Given the description of an element on the screen output the (x, y) to click on. 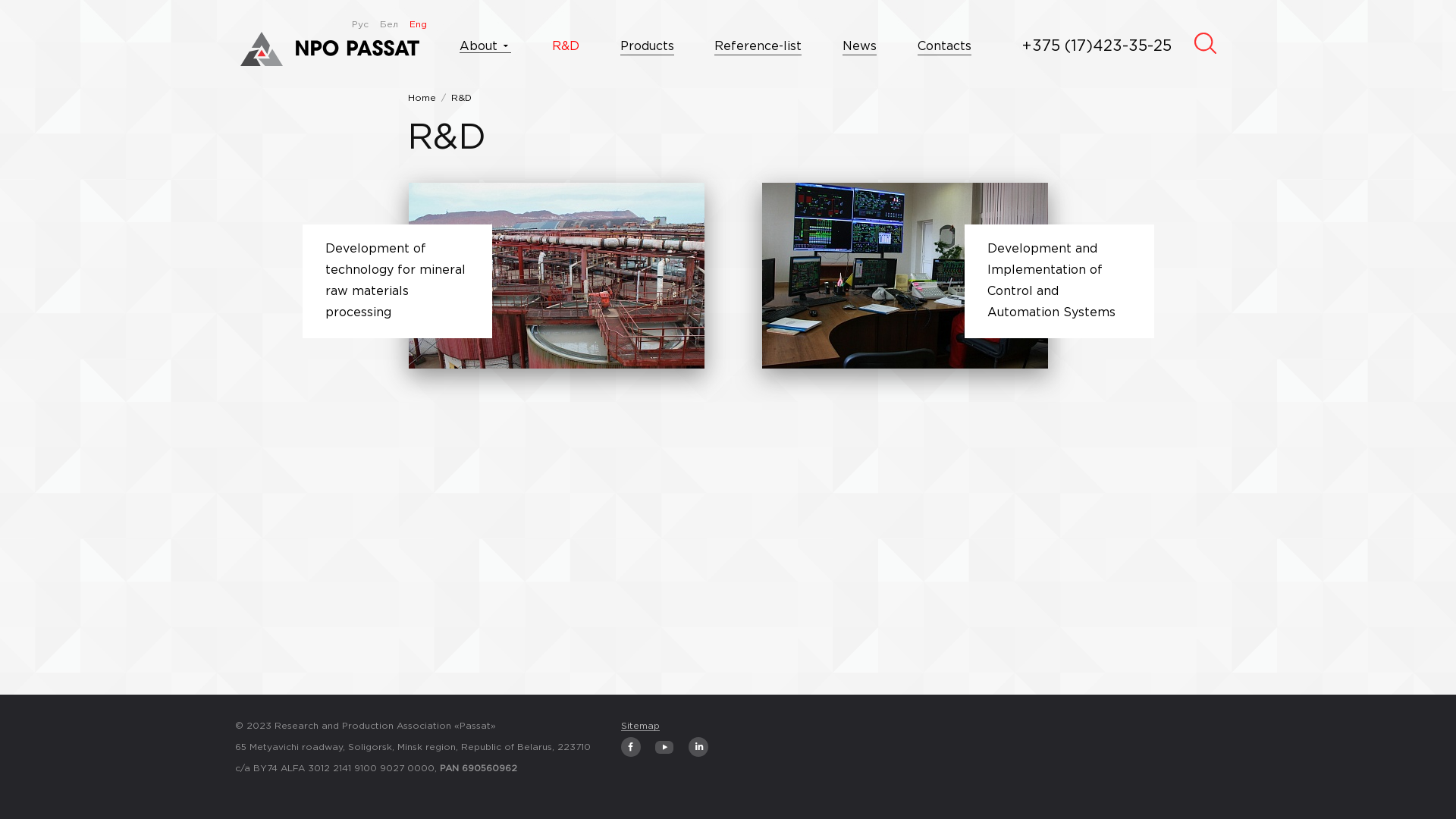
Home Element type: text (421, 98)
Products Element type: text (647, 47)
R&D Element type: text (460, 98)
News Element type: text (859, 47)
Sitemap Element type: text (640, 726)
Reference-list Element type: text (757, 47)
Eng Element type: text (417, 24)
Contacts Element type: text (944, 47)
+375 (17)423-35-25 Element type: text (1096, 46)
